Given the description of an element on the screen output the (x, y) to click on. 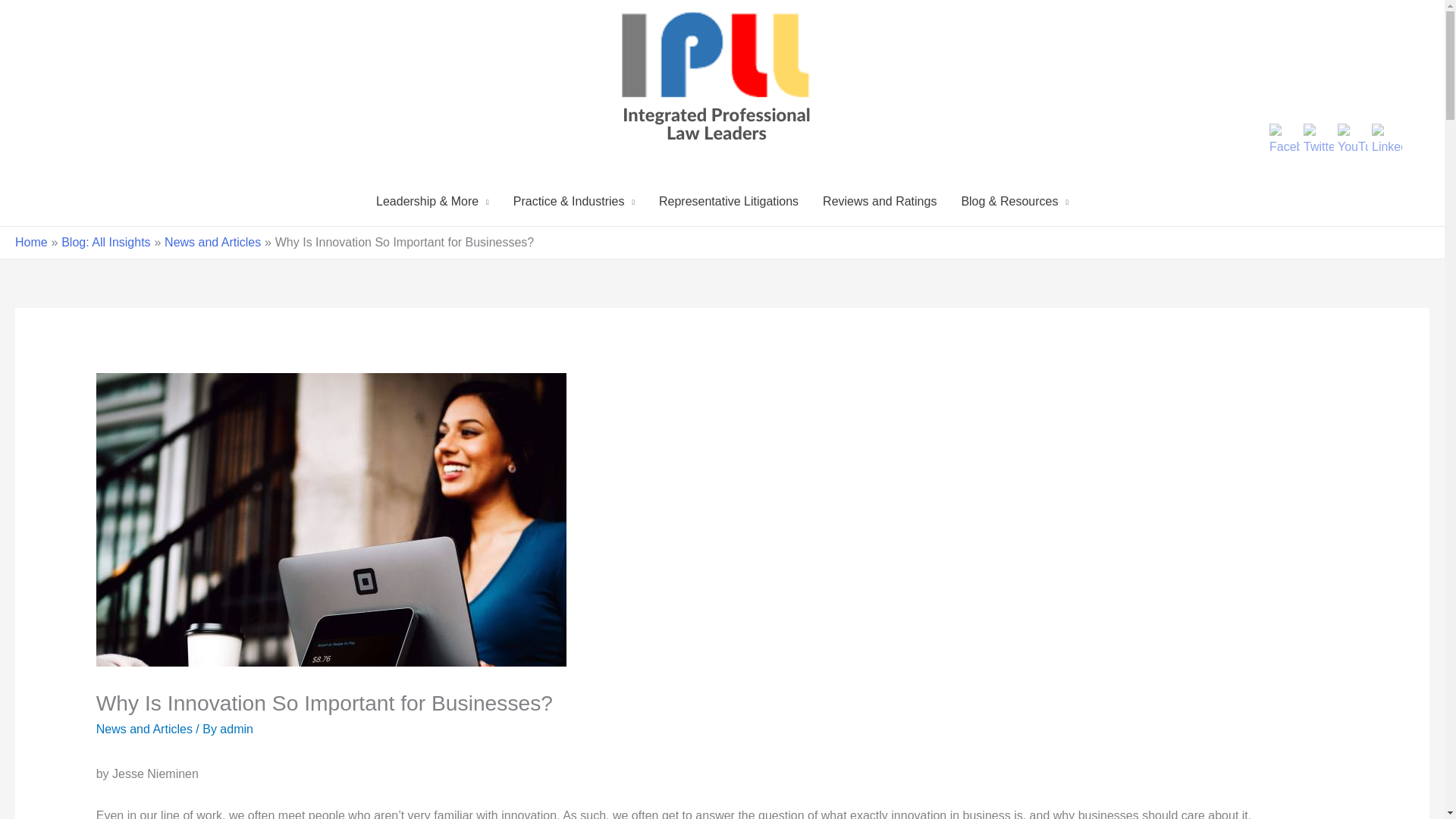
Home (31, 241)
View all posts by admin (236, 728)
Representative Litigations (728, 201)
Blog: All Insights (105, 241)
Reviews and Ratings (879, 201)
